Given the description of an element on the screen output the (x, y) to click on. 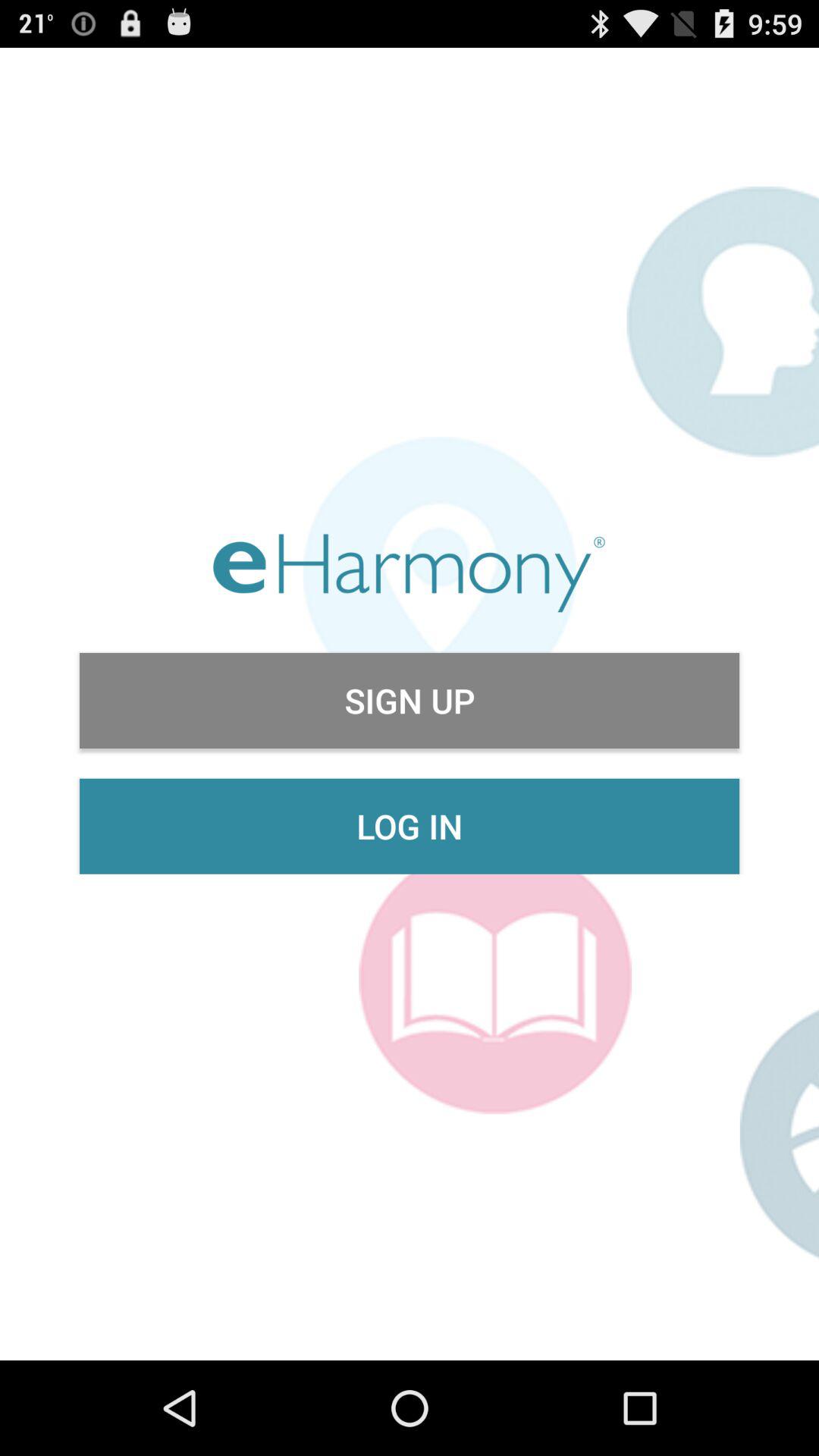
launch the log in icon (409, 826)
